Given the description of an element on the screen output the (x, y) to click on. 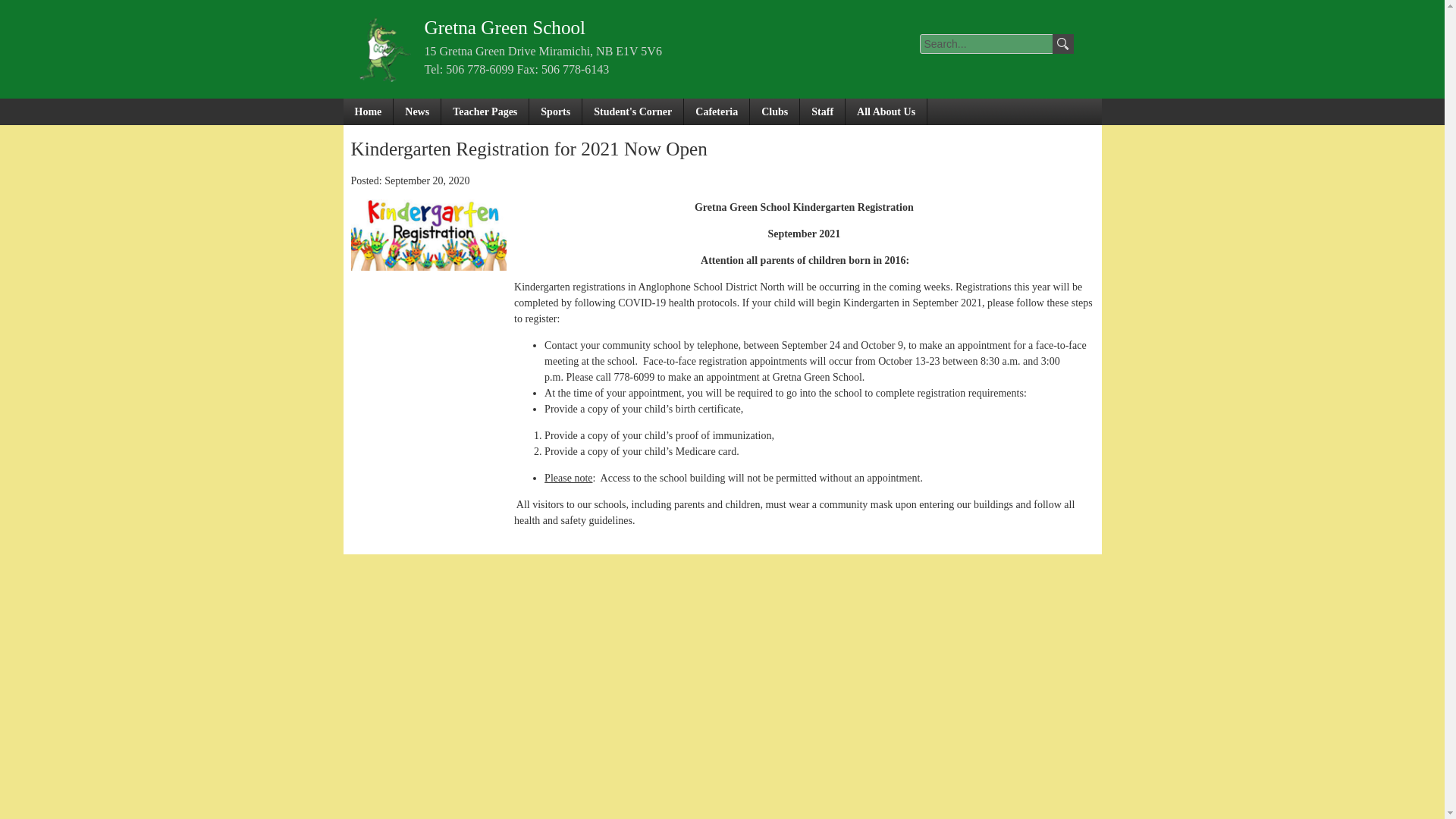
All About Us (886, 111)
Search... (986, 44)
Kindergarten Registration for 2021 Now Open (428, 266)
Gretna Green School (505, 27)
Clubs (774, 111)
Home page (505, 27)
Home (367, 111)
Staff (822, 111)
Student's Corner (633, 111)
Teacher Pages (485, 111)
Search (1063, 44)
News (417, 111)
Cafeteria (716, 111)
Sports (555, 111)
